Given the description of an element on the screen output the (x, y) to click on. 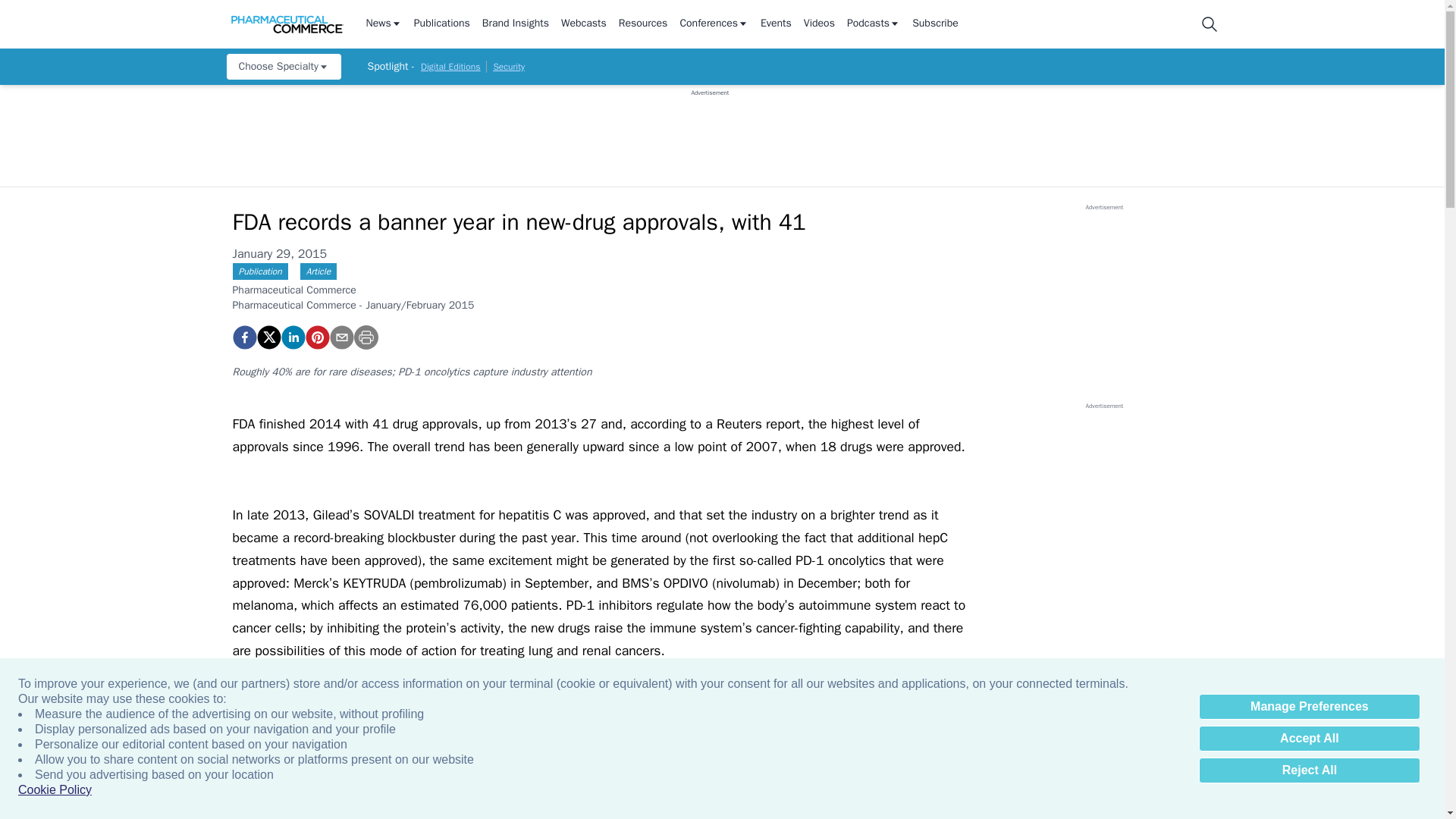
Manage Preferences (1309, 706)
Subscribe (935, 23)
3rd party ad content (1103, 306)
Accept All (1309, 738)
Choose Specialty (282, 66)
Resources (643, 23)
Brand Insights (514, 23)
News (383, 23)
Cookie Policy (54, 789)
Reject All (1309, 769)
Podcasts (873, 23)
Events (776, 23)
FDA records a banner year in new-drug approvals, with 41 (316, 337)
3rd party ad content (1103, 504)
FDA records a banner year in new-drug approvals, with 41 (243, 337)
